Given the description of an element on the screen output the (x, y) to click on. 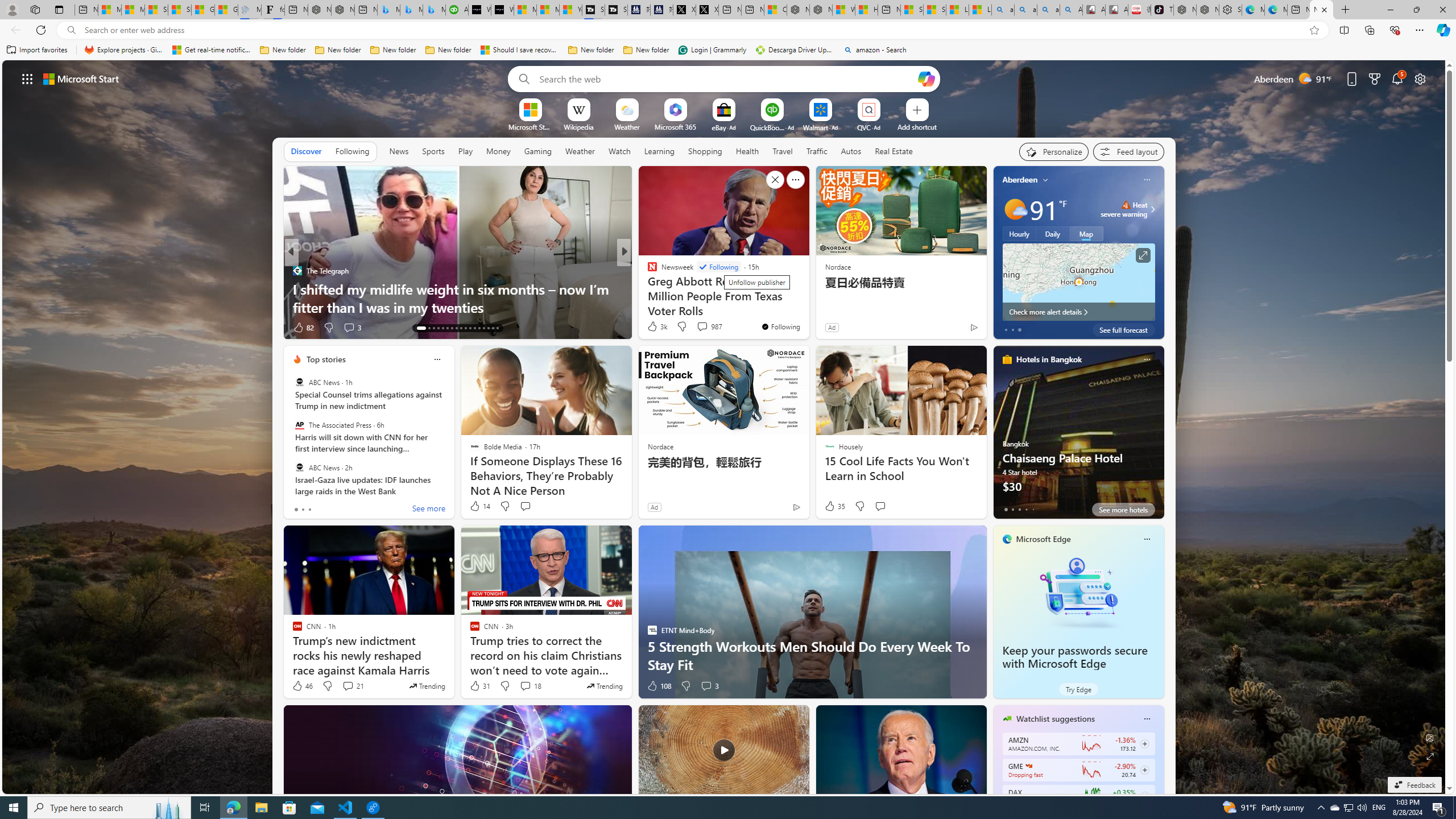
Learning (658, 151)
Favorites bar (728, 49)
hotels-header-icon (1006, 358)
AutomationID: tab-21 (460, 328)
View comments 1 Comment (702, 327)
202 Like (654, 327)
FOX News (647, 270)
